Given the description of an element on the screen output the (x, y) to click on. 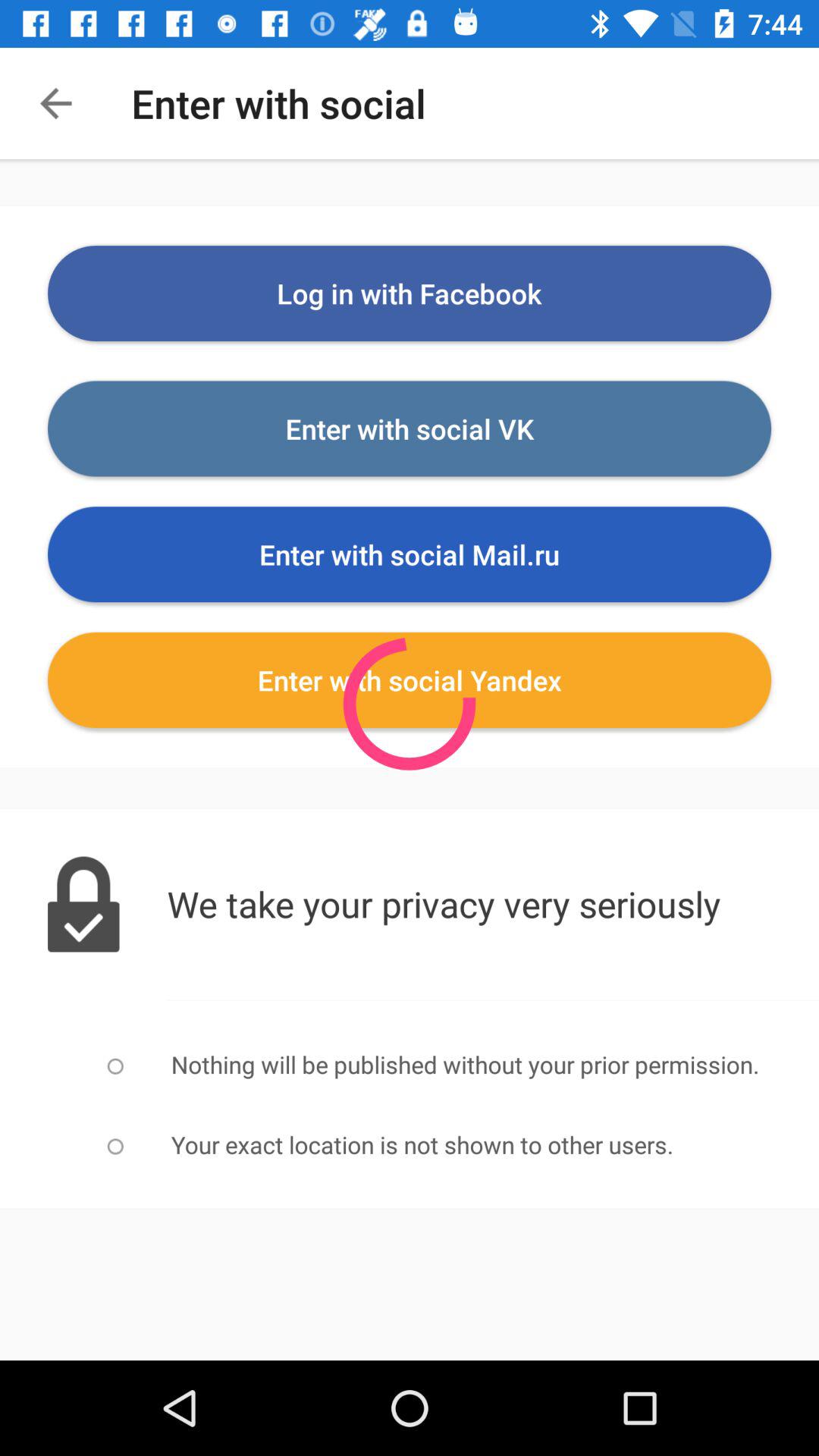
select the icon next to enter with social item (55, 103)
